Given the description of an element on the screen output the (x, y) to click on. 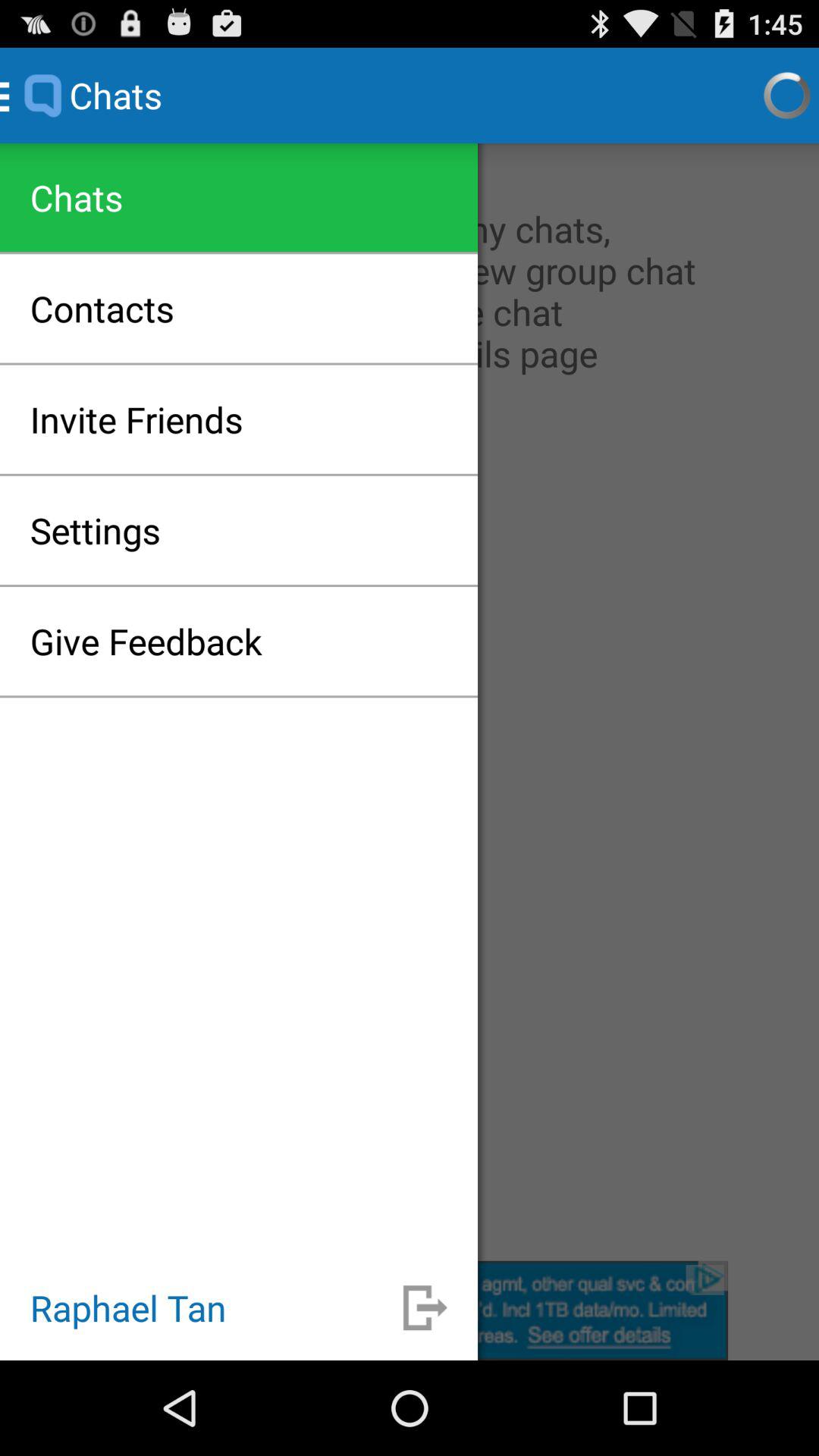
press app next to raphael tan icon (425, 1307)
